Given the description of an element on the screen output the (x, y) to click on. 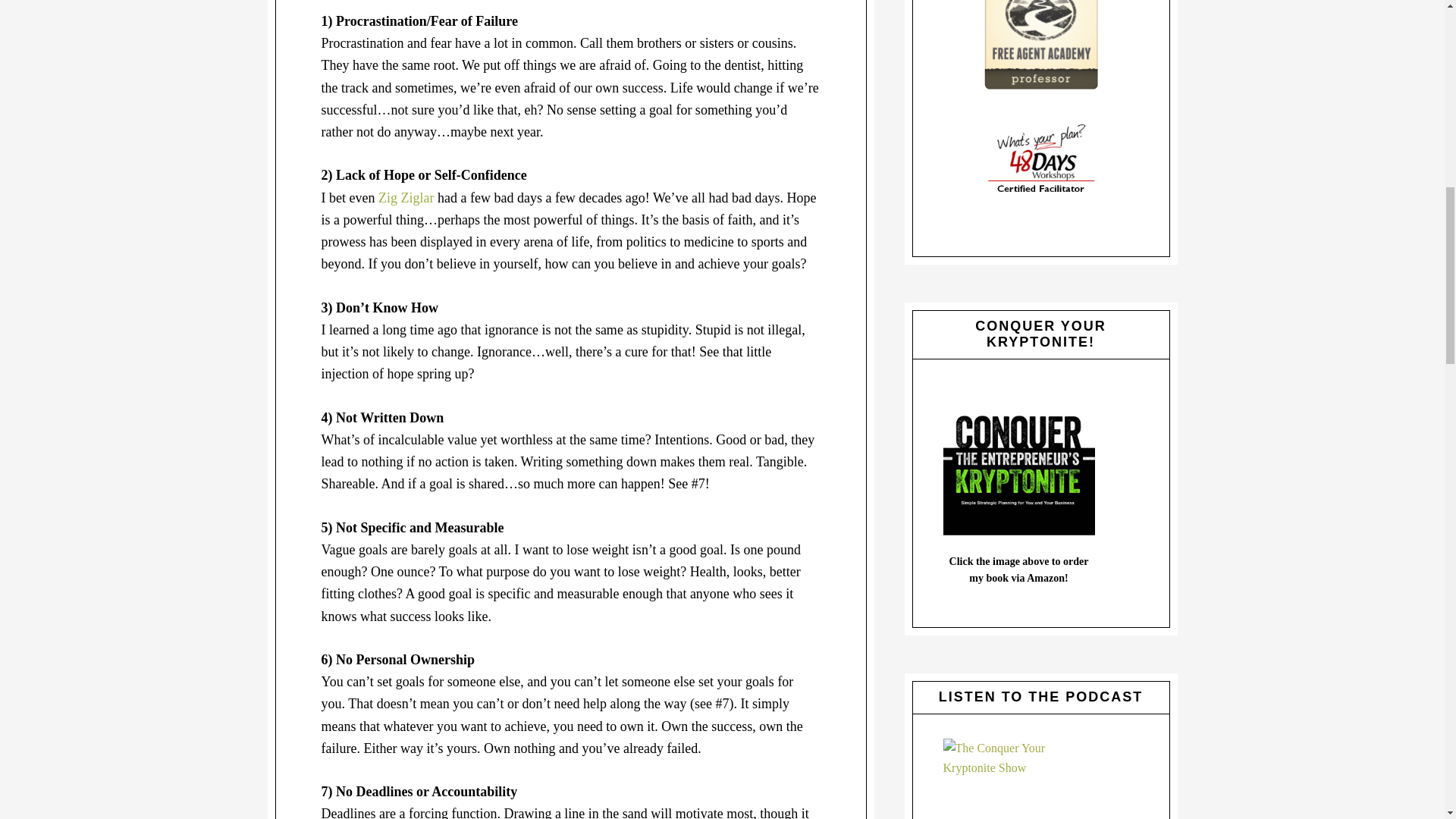
Conquer the Entrepreneur's Kryptonite (1018, 459)
48 Days (1040, 158)
The Conquer Your Kryptonite Show (1018, 778)
Free Agent Academy (1040, 44)
Zig Ziglar (405, 197)
